Given the description of an element on the screen output the (x, y) to click on. 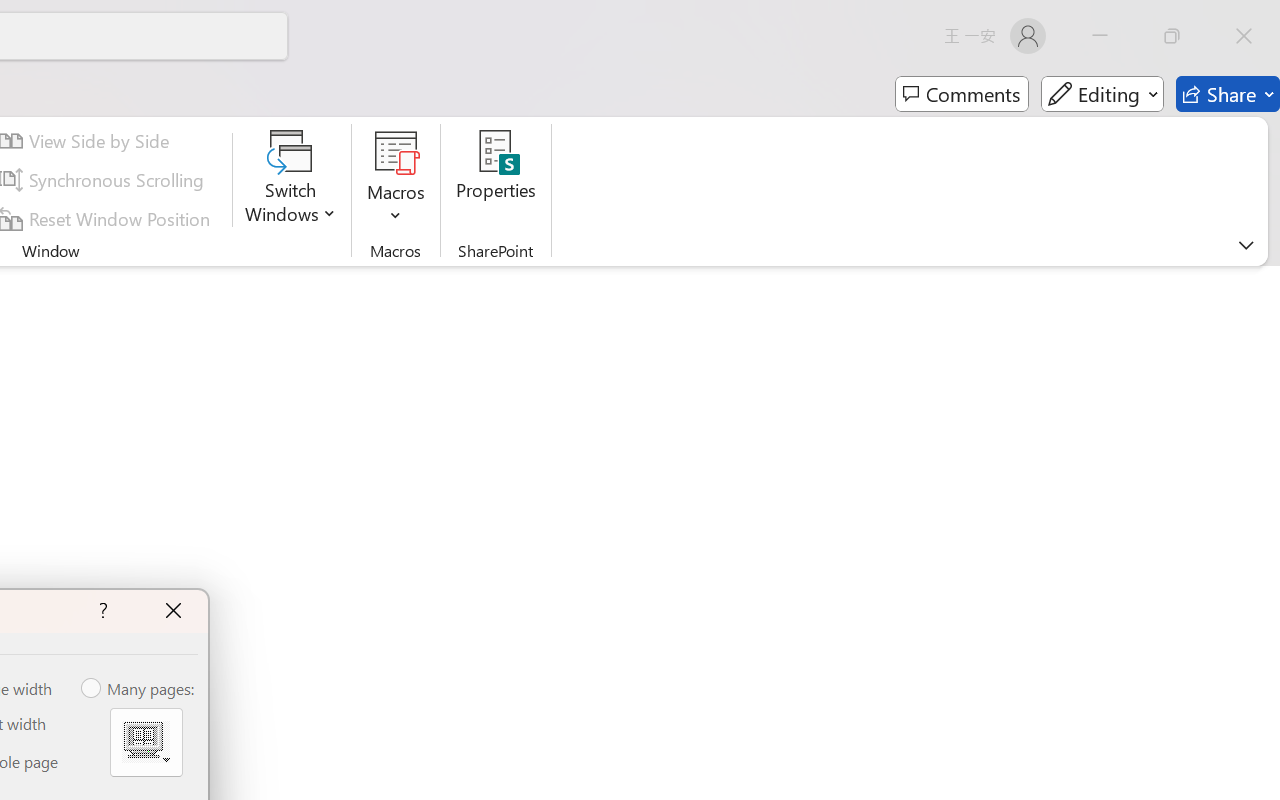
Start a conversation (1085, 330)
Post comment (Ctrl + Enter) (1146, 386)
